Given the description of an element on the screen output the (x, y) to click on. 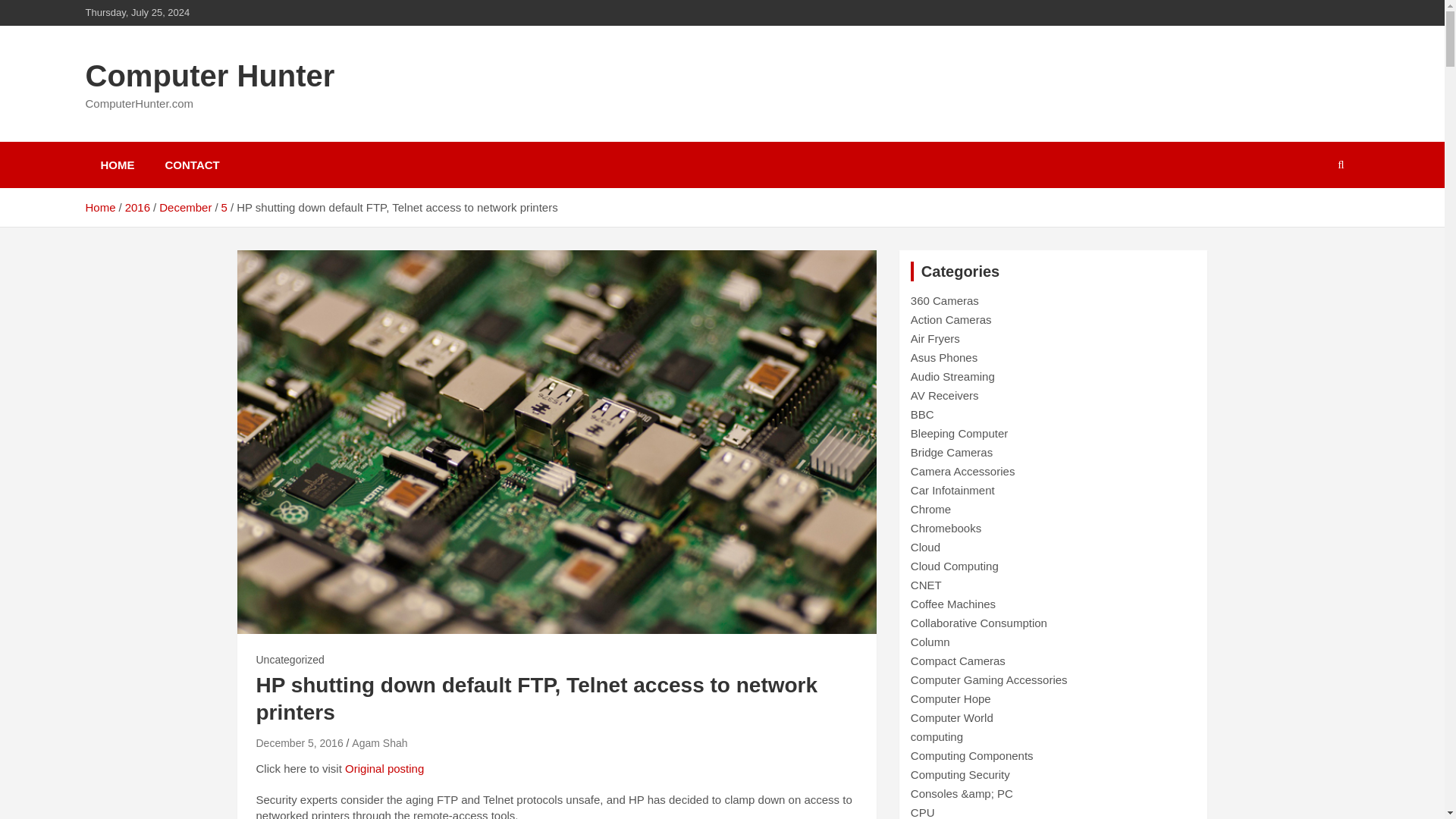
360 Cameras (944, 300)
Column (930, 641)
Computer Hope (951, 698)
Cloud (925, 546)
Computer Hunter (209, 75)
Home (99, 206)
Action Cameras (951, 318)
2016 (137, 206)
Collaborative Consumption (978, 622)
Audio Streaming (952, 376)
Computer Gaming Accessories (989, 679)
AV Receivers (944, 395)
CONTACT (191, 164)
Agam Shah (379, 743)
Bleeping Computer (959, 432)
